Given the description of an element on the screen output the (x, y) to click on. 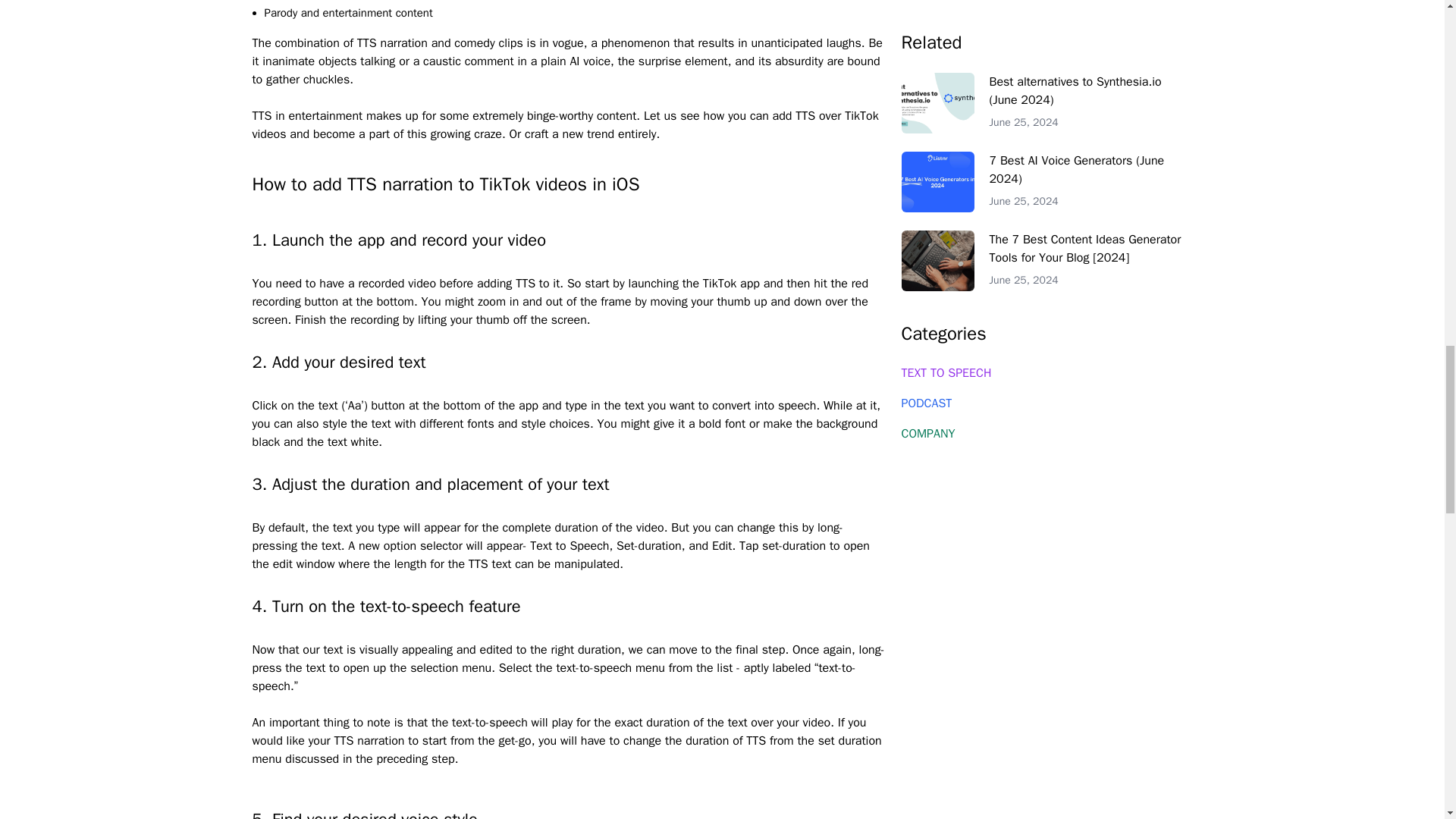
TTS (477, 563)
